Given the description of an element on the screen output the (x, y) to click on. 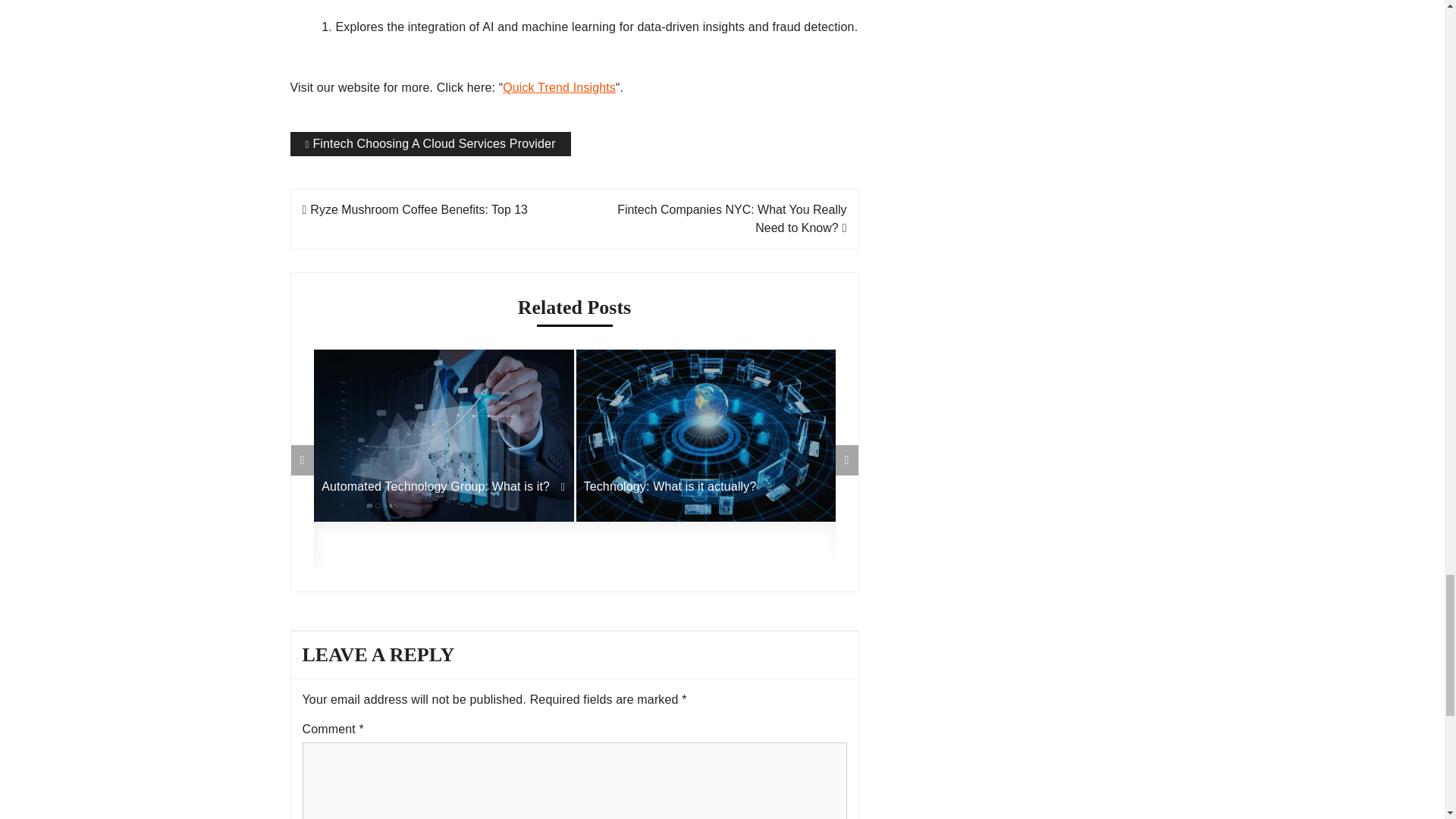
Fintech Companies NYC: What You Really Need to Know? (731, 218)
Automated Technology Group: What is it? (443, 486)
Quick Trend Insights (558, 87)
Fintech Choosing A Cloud Services Provider (429, 143)
Technology: What is it actually? (705, 486)
Ryze Mushroom Coffee Benefits: Top 13 (414, 209)
